Given the description of an element on the screen output the (x, y) to click on. 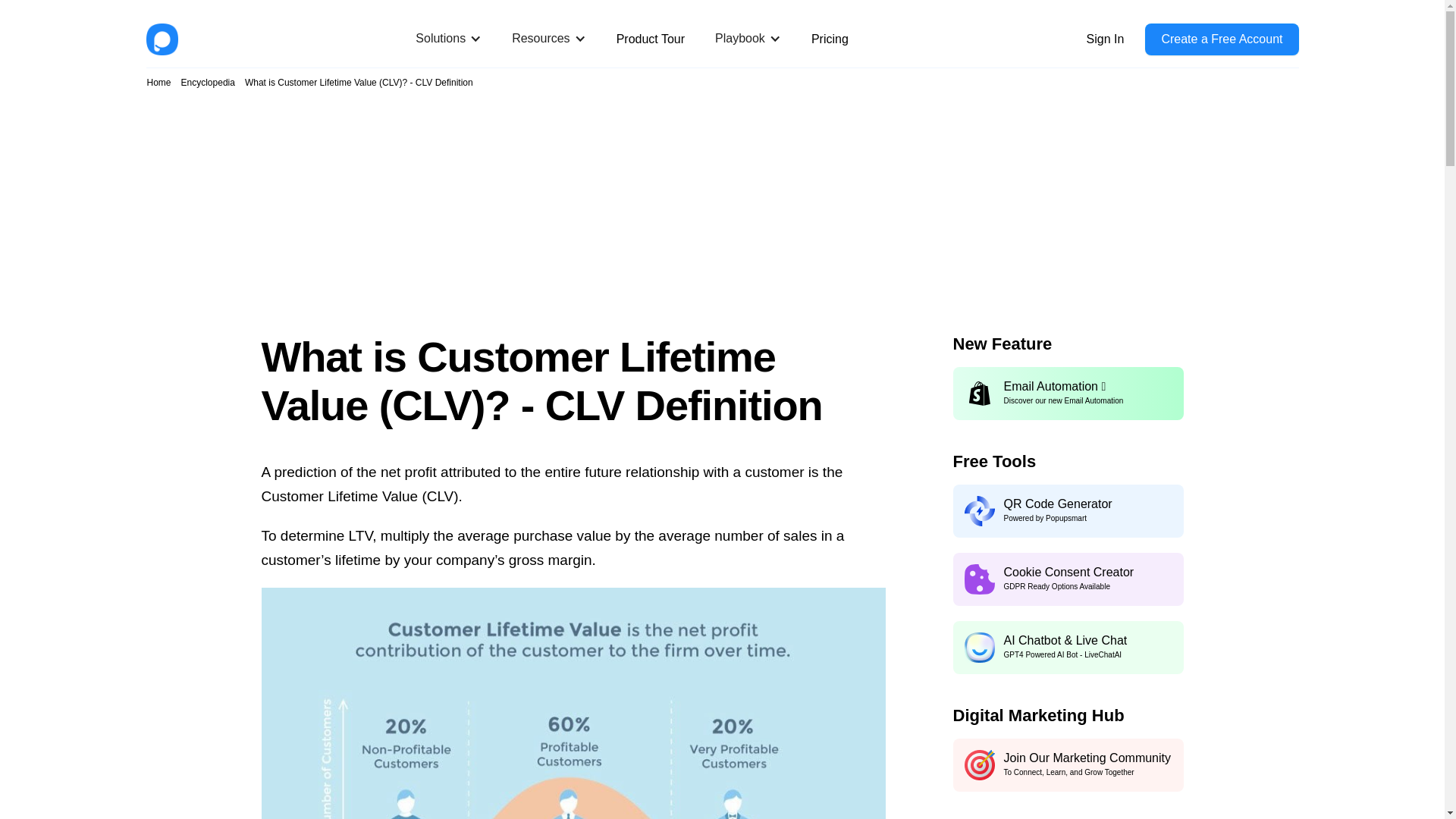
Pricing (829, 38)
Product Tour (649, 38)
Sign In (1105, 38)
